Given the description of an element on the screen output the (x, y) to click on. 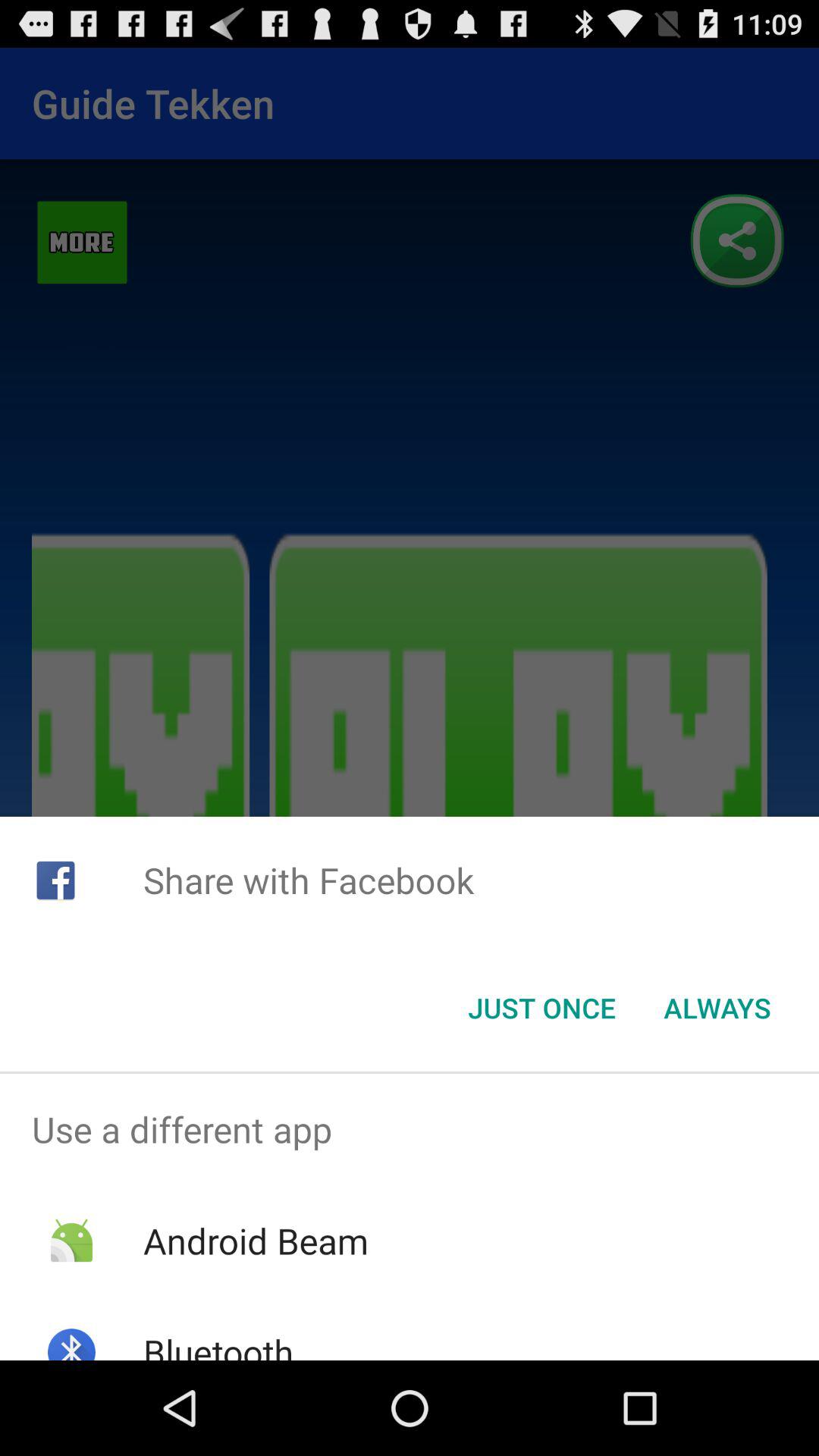
swipe to the android beam item (255, 1240)
